Given the description of an element on the screen output the (x, y) to click on. 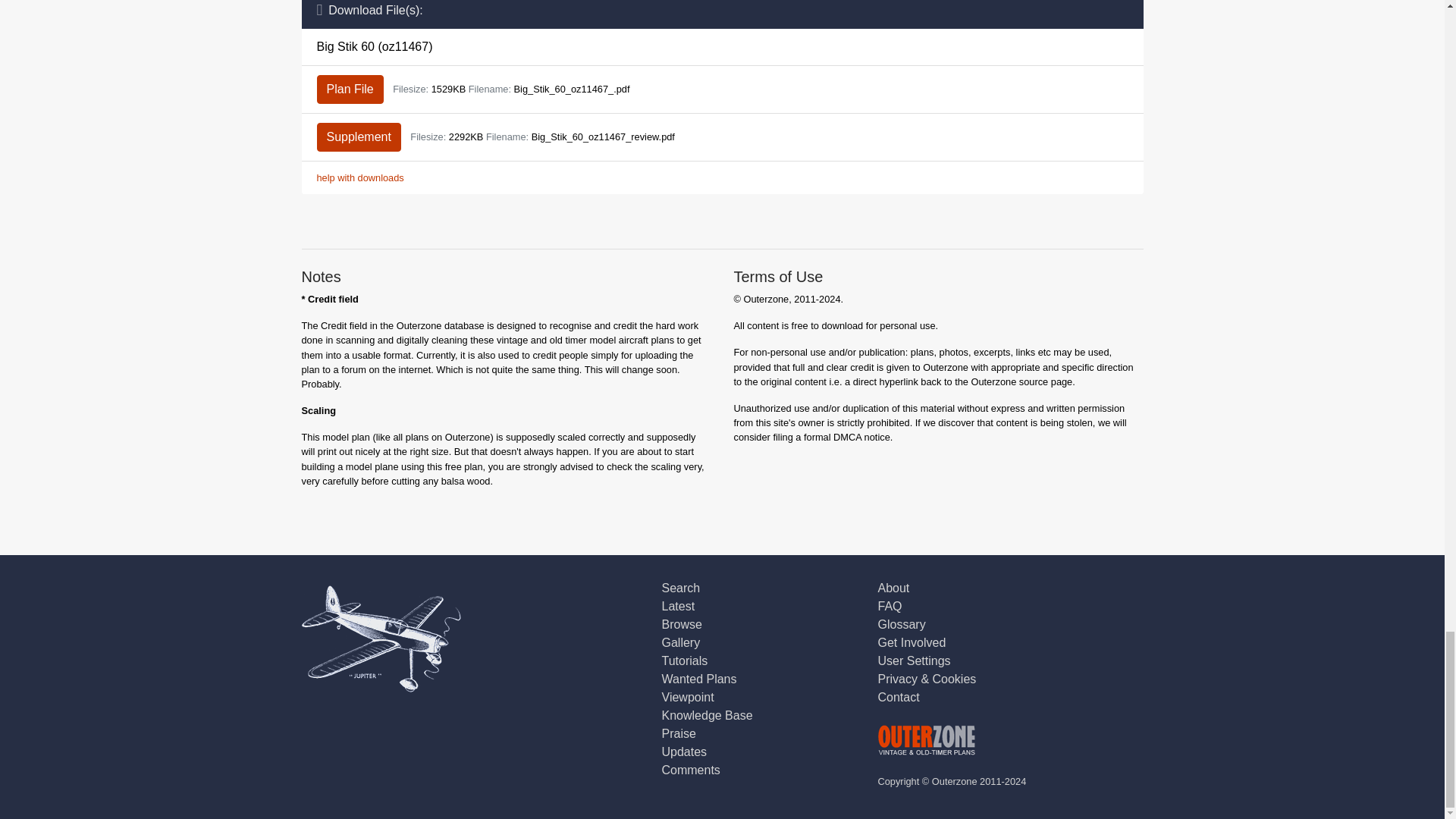
Plan File (350, 89)
